Given the description of an element on the screen output the (x, y) to click on. 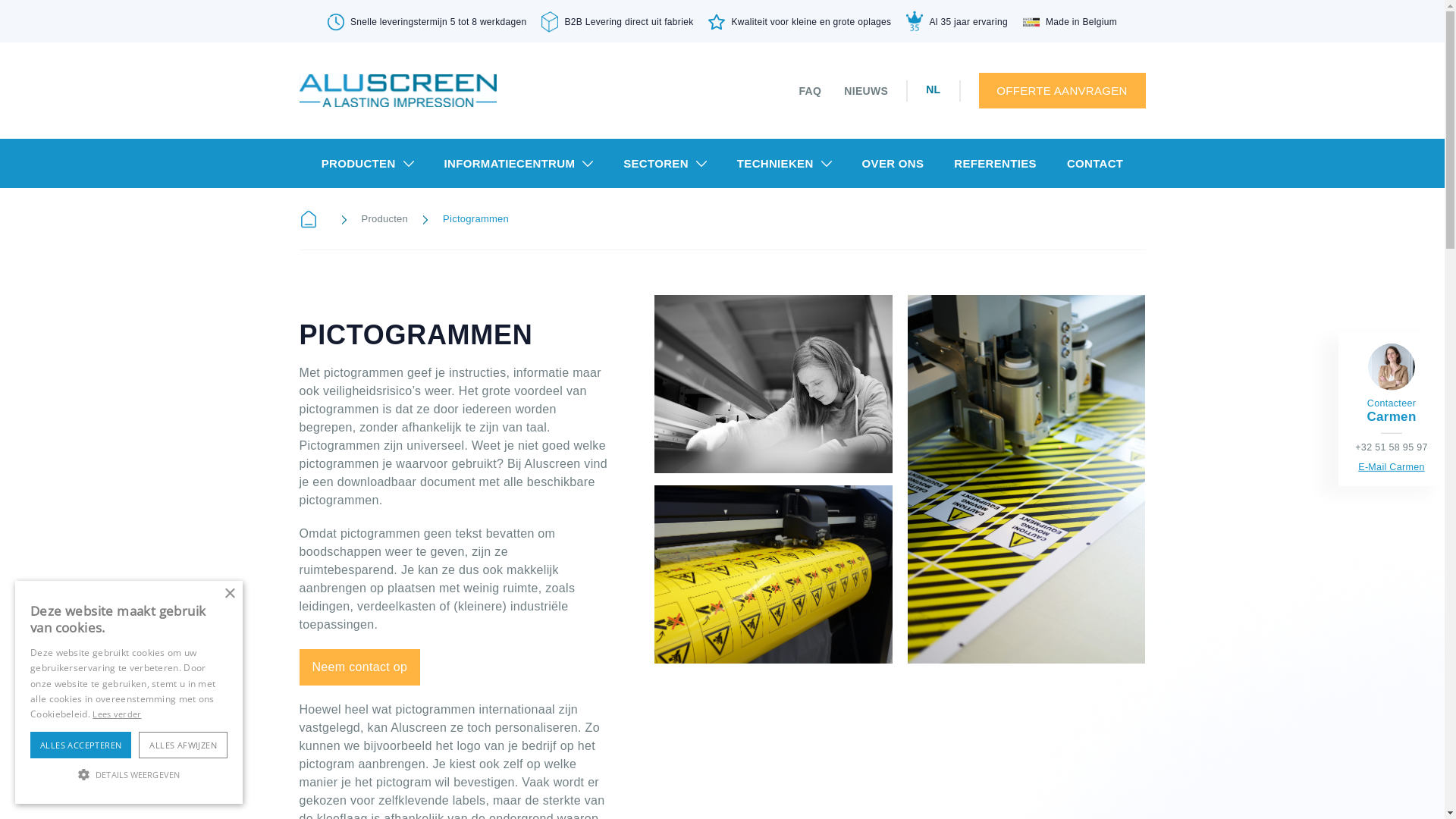
NIEUWS Element type: text (866, 90)
PRODUCTEN Element type: text (367, 163)
CONTACT Element type: text (1094, 163)
FAQ Element type: text (810, 90)
E-Mail Carmen Element type: text (1391, 466)
OFFERTE AANVRAGEN Element type: text (1061, 90)
Neem contact op Element type: text (359, 667)
REFERENTIES Element type: text (994, 163)
SECTOREN Element type: text (664, 163)
Contacteer
Carmen Element type: text (1390, 409)
TECHNIEKEN Element type: text (784, 163)
Producten Element type: text (383, 219)
logo Element type: hover (396, 90)
INFORMATIECENTRUM Element type: text (518, 163)
Lees verder Element type: text (116, 713)
+32 51 58 95 97 Element type: text (1391, 447)
NL Element type: text (932, 89)
OVER ONS Element type: text (893, 163)
